Given the description of an element on the screen output the (x, y) to click on. 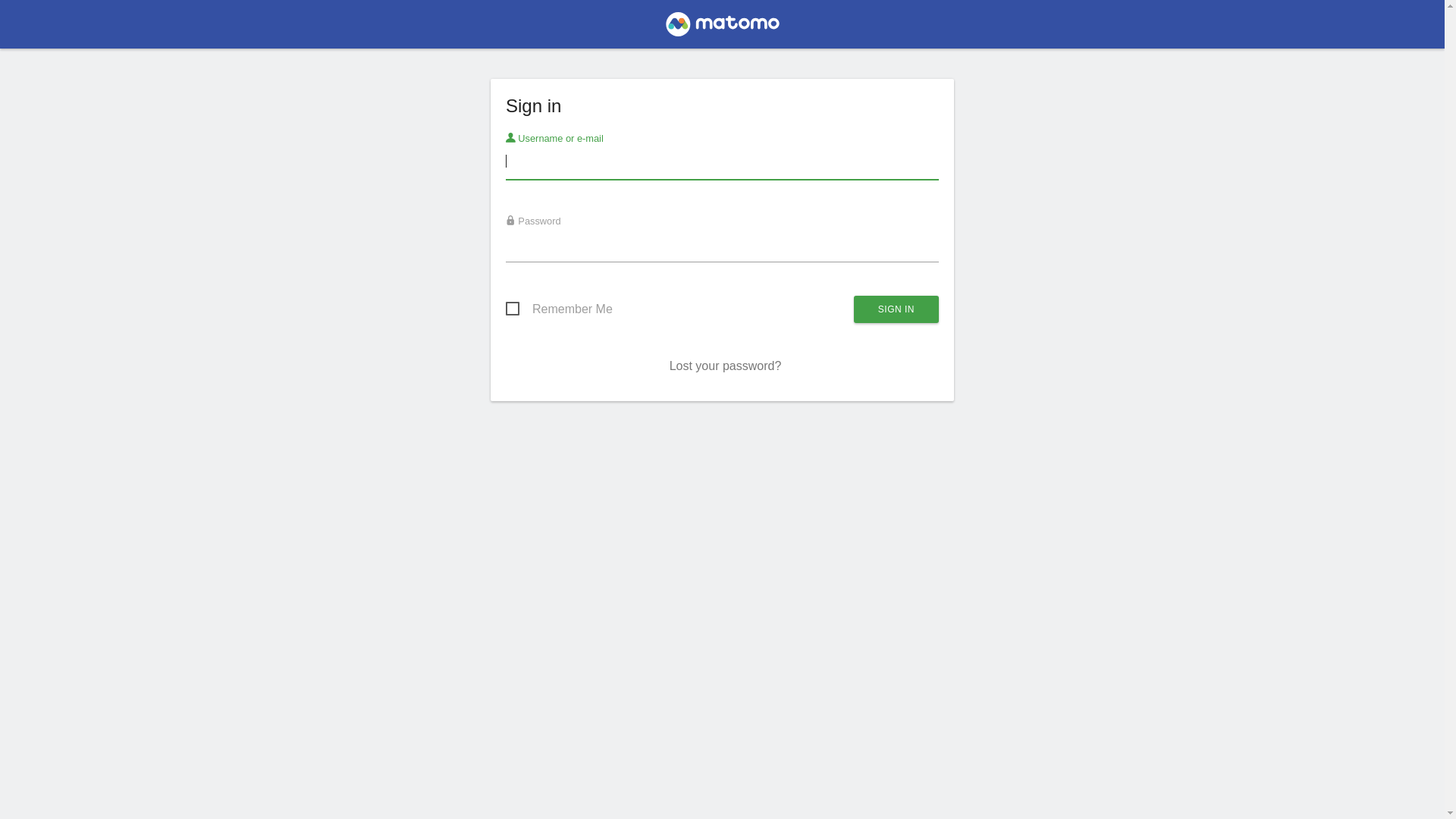
Lost your password? Element type: text (725, 365)
Matomo # free/libre analytics platform Element type: hover (722, 27)
Sign in Element type: text (895, 309)
